Given the description of an element on the screen output the (x, y) to click on. 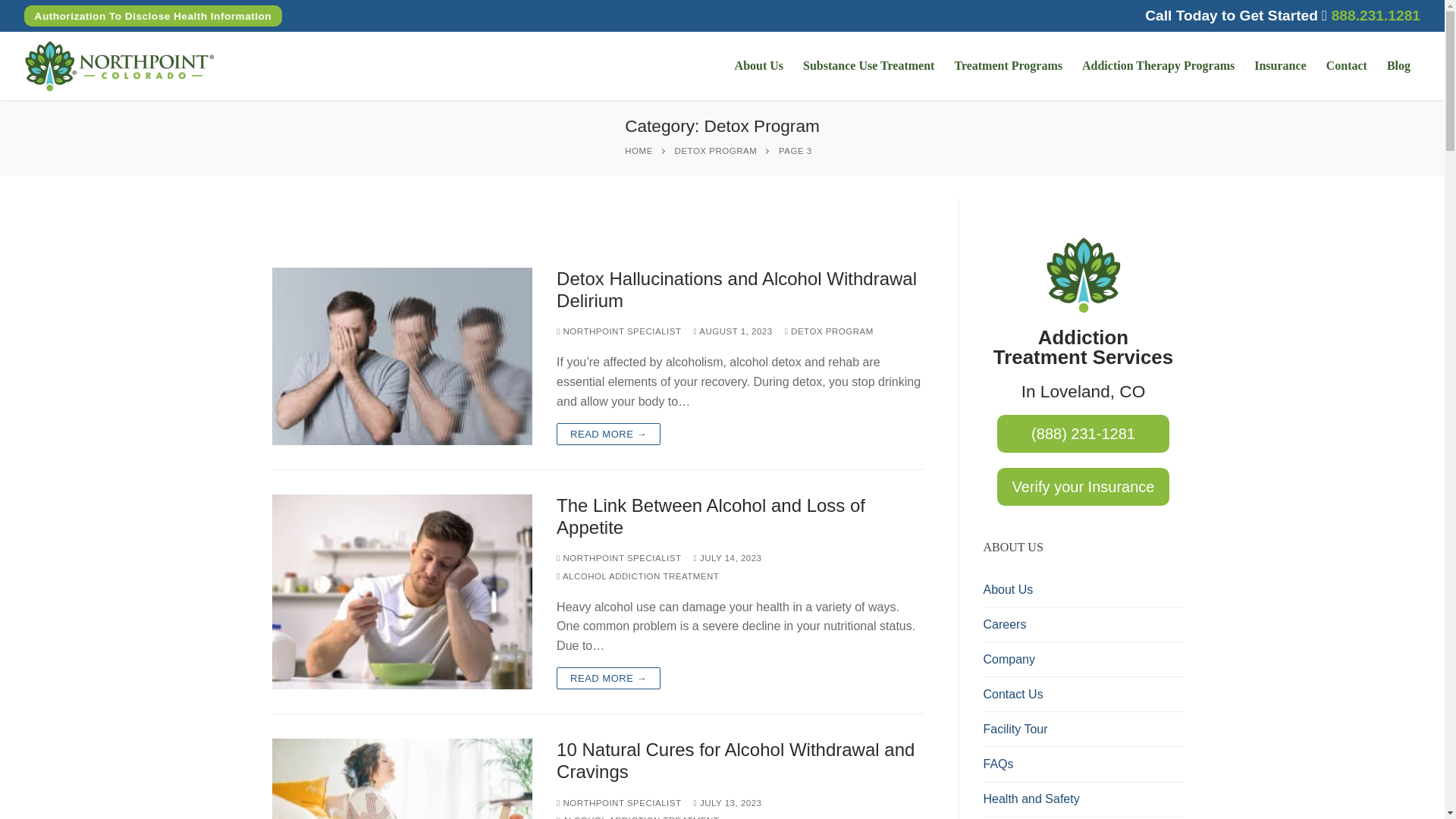
10 Natural Cures for Alcohol Withdrawal and Cravings (401, 778)
The Link Between Alcohol and Loss of Appetite (739, 516)
About Us (759, 65)
The Link Between Alcohol and Loss of Appetite (401, 592)
Substance Use Treatment (868, 65)
Detox Hallucinations and Alcohol Withdrawal Delirium (401, 356)
Treatment Programs (1007, 65)
10 Natural Cures for Alcohol Withdrawal and Cravings (739, 760)
Authorization To Disclose Health Information (153, 15)
Detox Hallucinations and Alcohol Withdrawal Delirium (739, 289)
